Given the description of an element on the screen output the (x, y) to click on. 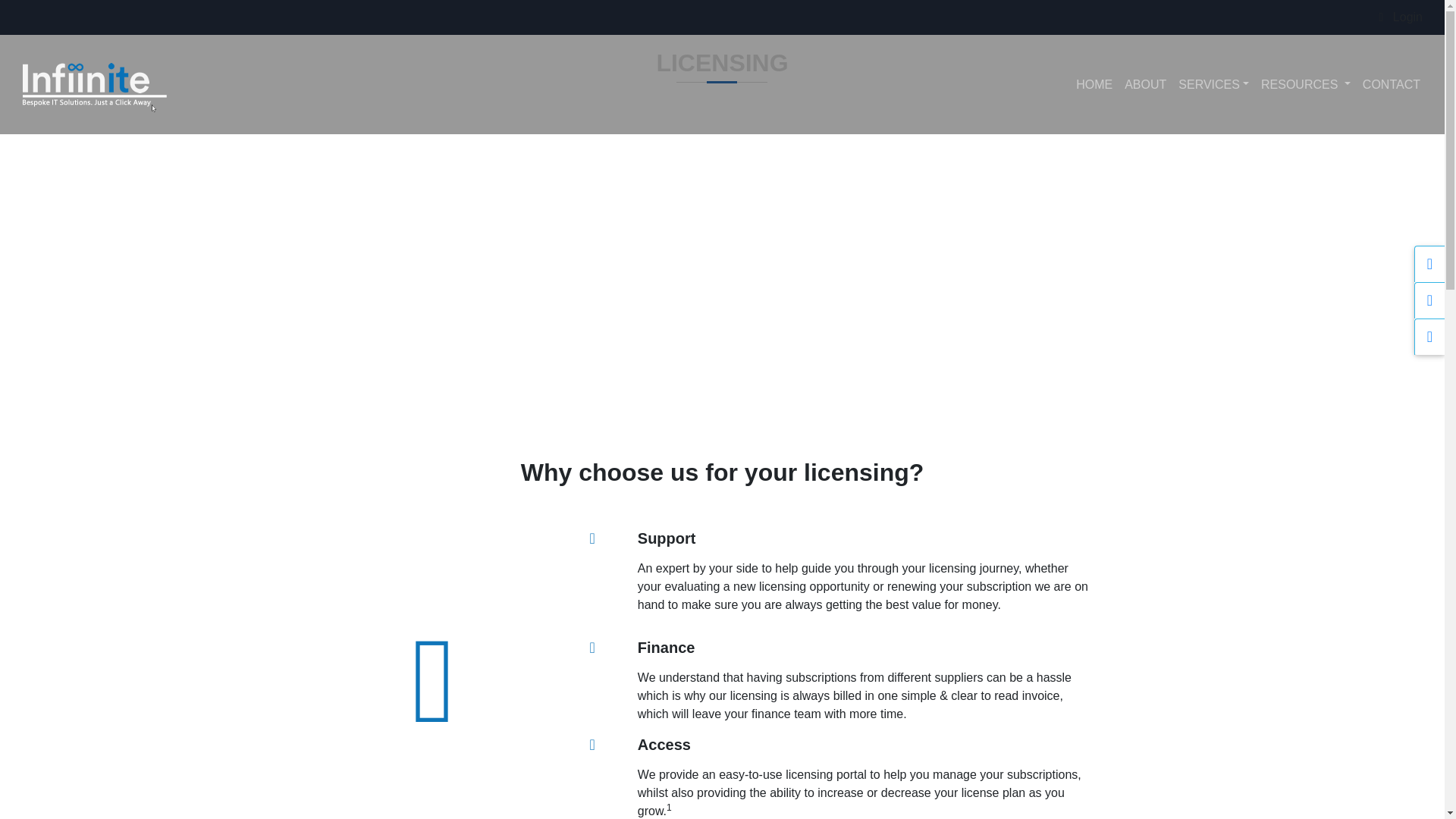
HOME (1094, 84)
RESOURCES (1305, 84)
CONTACT (1391, 84)
SERVICES (1213, 84)
ABOUT (1145, 84)
Login (1401, 17)
